Given the description of an element on the screen output the (x, y) to click on. 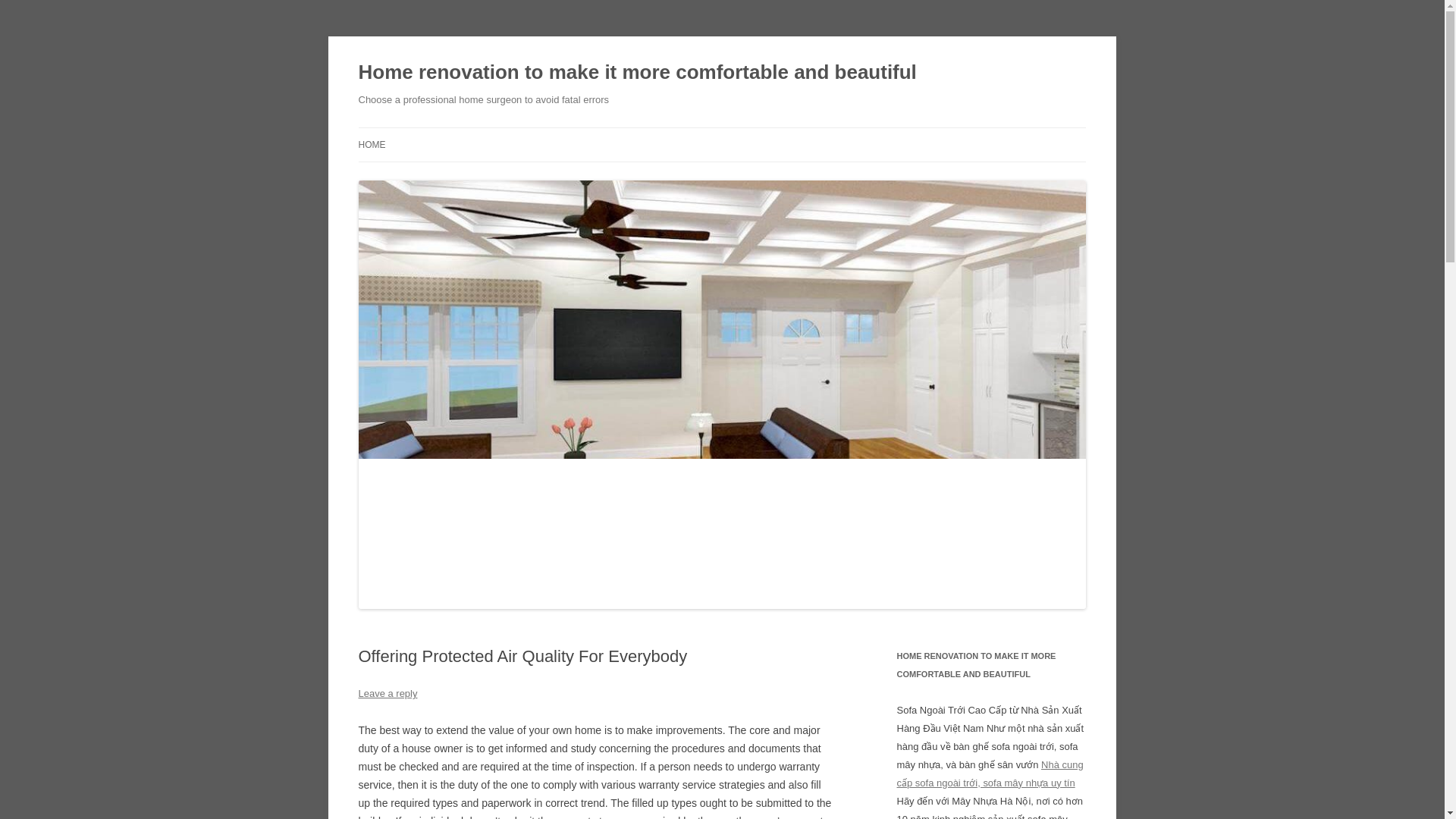
Leave a reply (387, 693)
Home renovation to make it more comfortable and beautiful (636, 72)
